Given the description of an element on the screen output the (x, y) to click on. 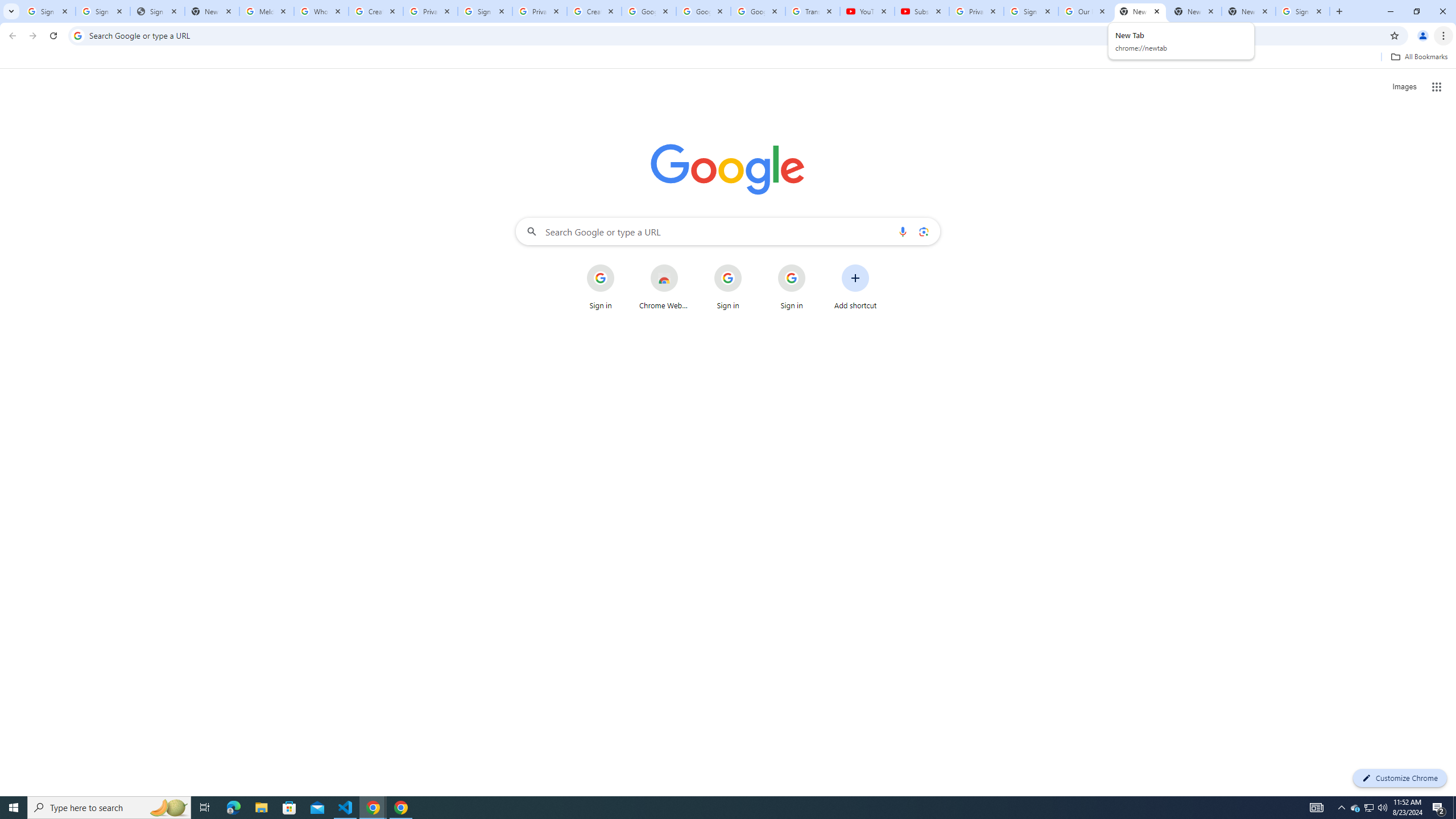
Search by image (922, 230)
Sign in - Google Accounts (48, 11)
Sign in - Google Accounts (1303, 11)
YouTube (866, 11)
Customize Chrome (1399, 778)
